Given the description of an element on the screen output the (x, y) to click on. 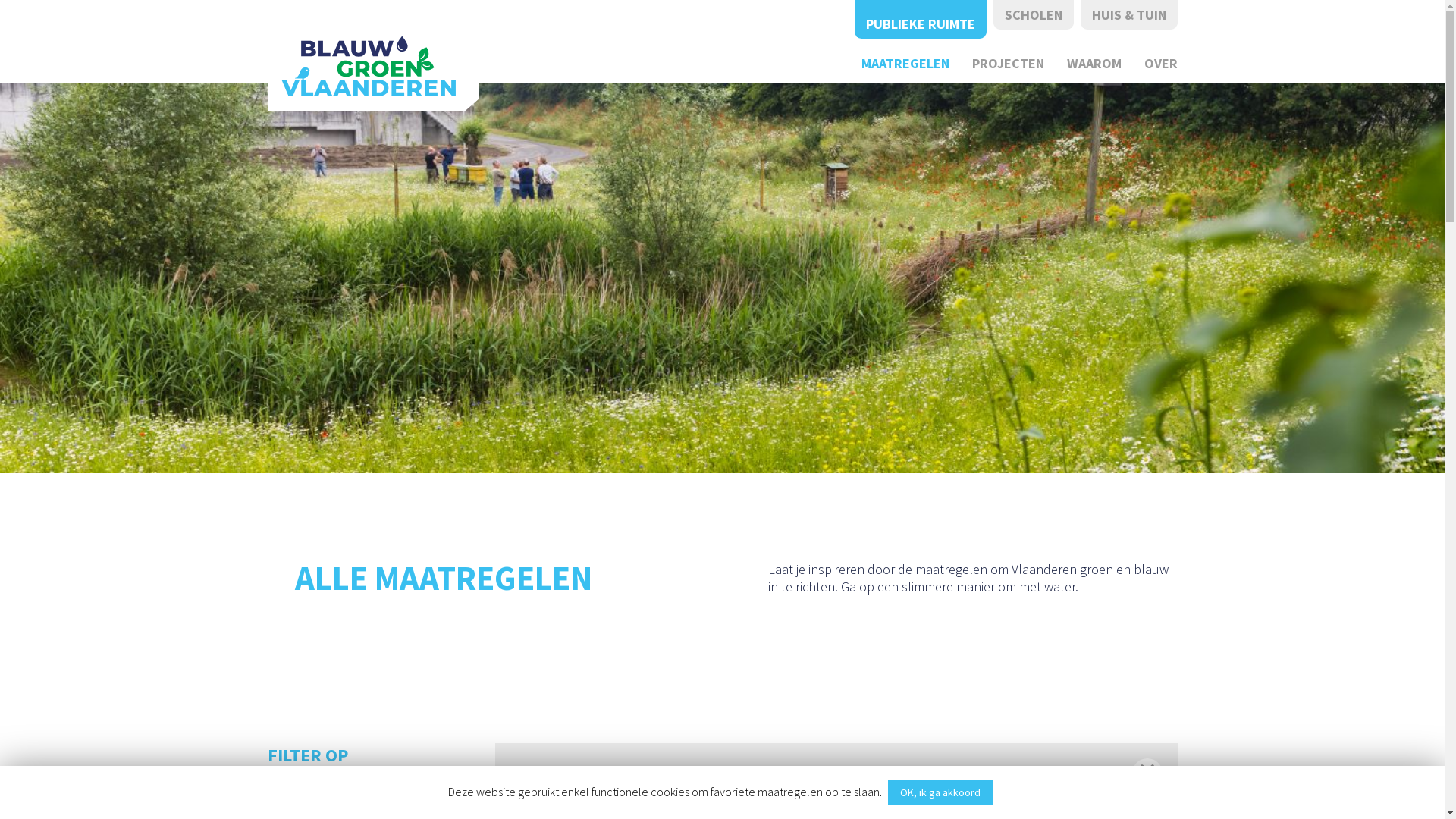
PUBLIEKE RUIMTE Element type: text (919, 19)
MAATREGELEN Element type: text (905, 63)
OVER Element type: text (1159, 63)
Maak deze maatregel favoriet Element type: hover (915, 762)
PROJECTEN Element type: text (1008, 63)
HUIS & TUIN Element type: text (1127, 14)
Maak deze maatregel favoriet Element type: hover (680, 762)
WAAROM Element type: text (1093, 63)
Maak deze maatregel favoriet Element type: hover (1150, 762)
Blauw Groen Vlaanderen Element type: text (367, 65)
OK, ik ga akkoord Element type: text (940, 792)
SCHOLEN Element type: text (1033, 14)
